Given the description of an element on the screen output the (x, y) to click on. 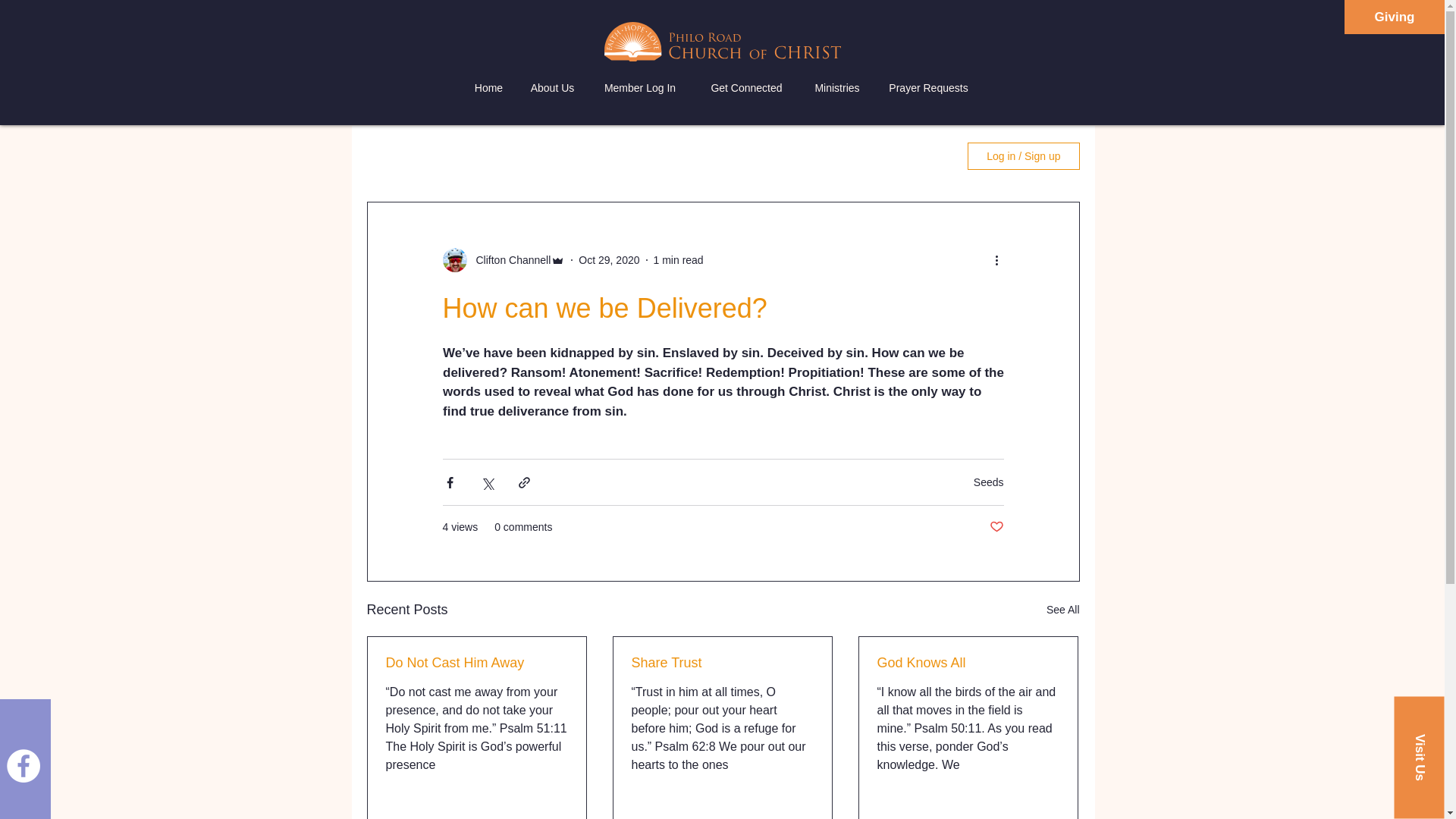
Member Log In (640, 87)
1 min read (678, 259)
Ministries (836, 87)
Oct 29, 2020 (608, 259)
Share Trust (721, 662)
Home (488, 87)
Prayer Requests (928, 87)
About Us (552, 87)
Seeds (989, 481)
God Knows All (967, 662)
Do Not Cast Him Away (476, 662)
See All (1063, 609)
Post not marked as liked (995, 527)
Clifton Channell (509, 259)
Get Connected (745, 87)
